Given the description of an element on the screen output the (x, y) to click on. 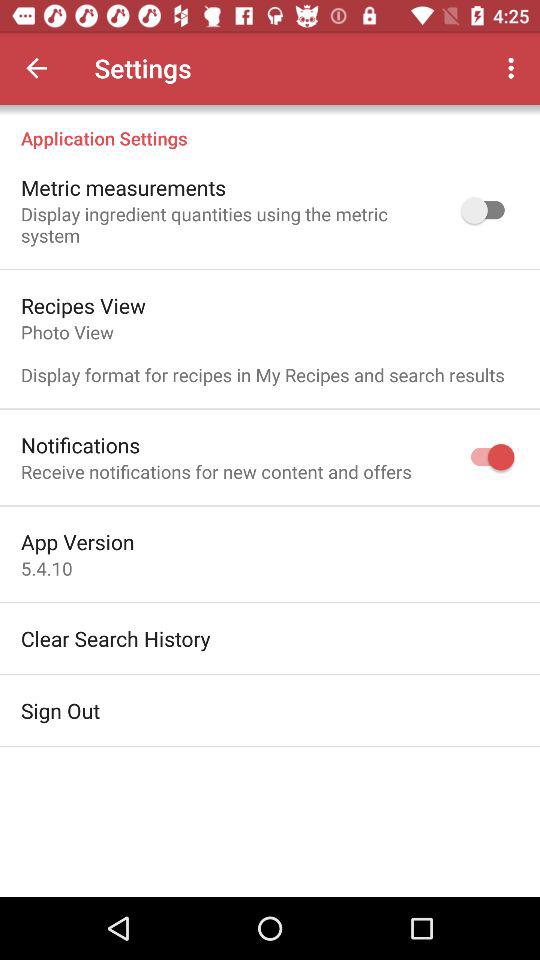
turn off item above the sign out icon (115, 638)
